Given the description of an element on the screen output the (x, y) to click on. 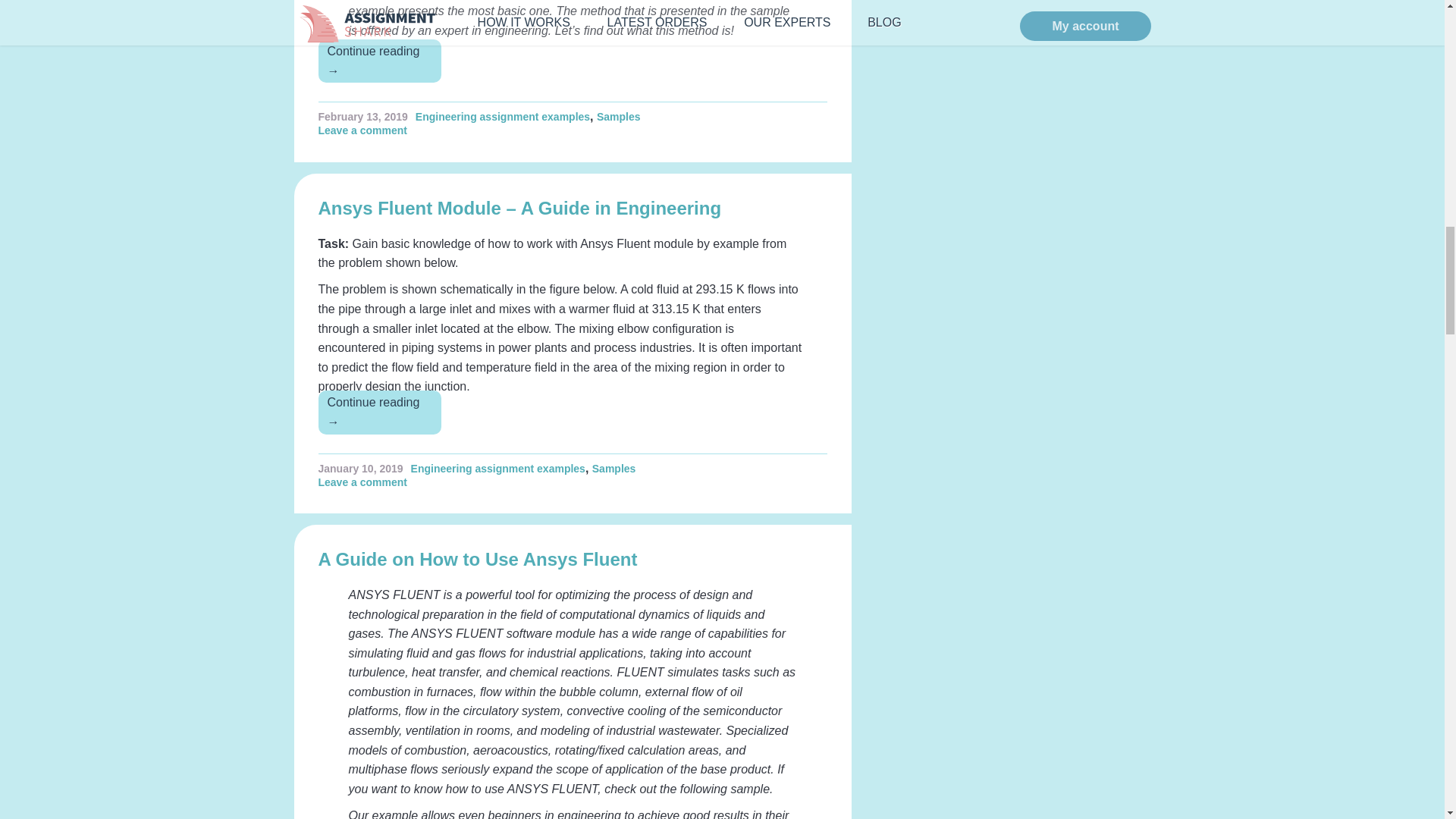
Samples (614, 468)
Engineering assignment examples (501, 116)
Leave a comment (366, 481)
Samples (618, 116)
Engineering assignment examples (497, 468)
January 10, 2019 (360, 468)
February 13, 2019 (362, 116)
Permalink to Guide on How to Calculate Head Loss (362, 116)
Leave a comment (366, 130)
